Given the description of an element on the screen output the (x, y) to click on. 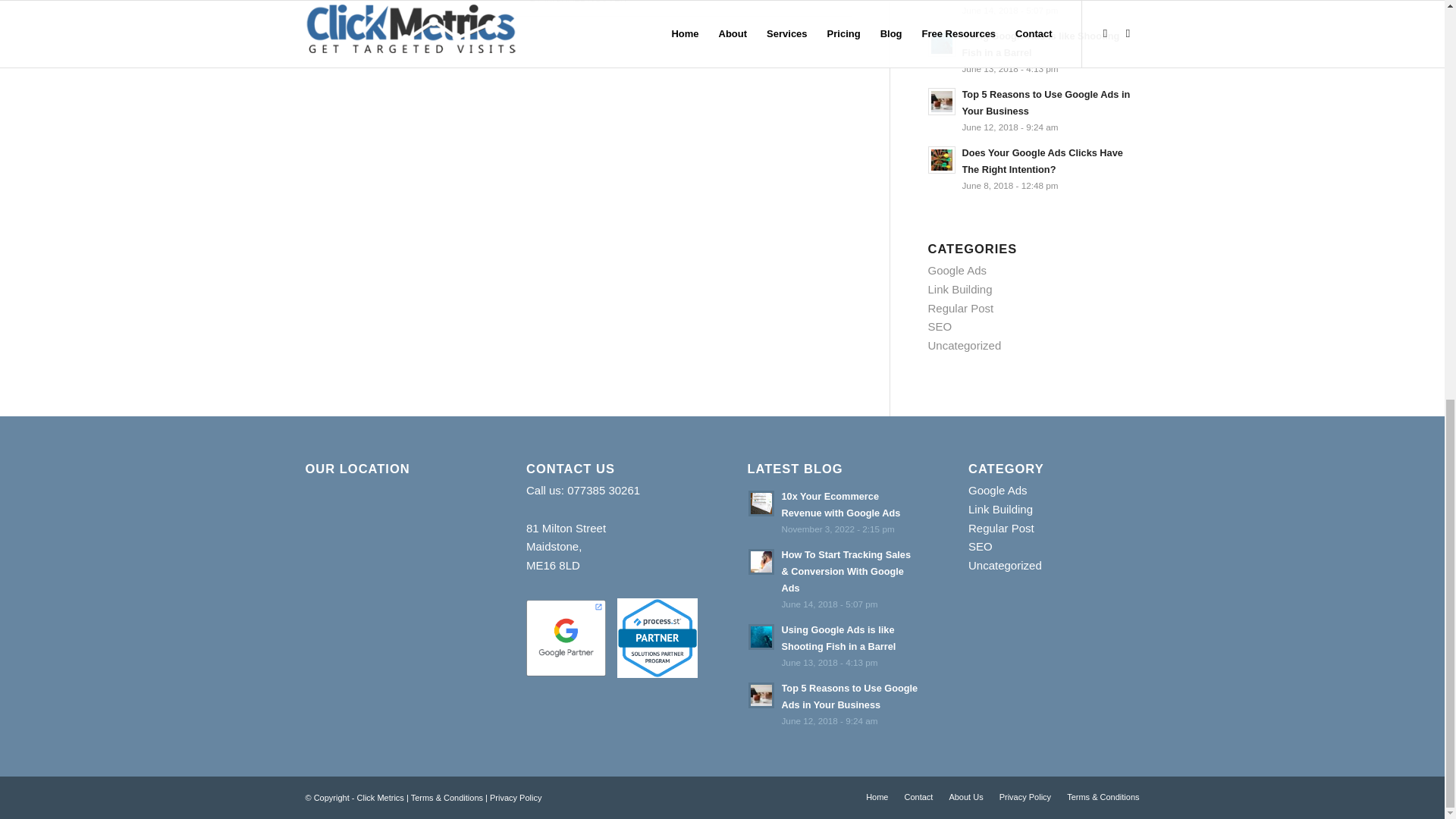
SEO (940, 326)
Link Building (960, 288)
Uncategorized (964, 345)
Google Ads (957, 269)
077385 30261 (603, 490)
Posts by Michael Nguyen (585, 2)
Top 5 Reasons to Use Google Ads in Your Business (1034, 110)
